Given the description of an element on the screen output the (x, y) to click on. 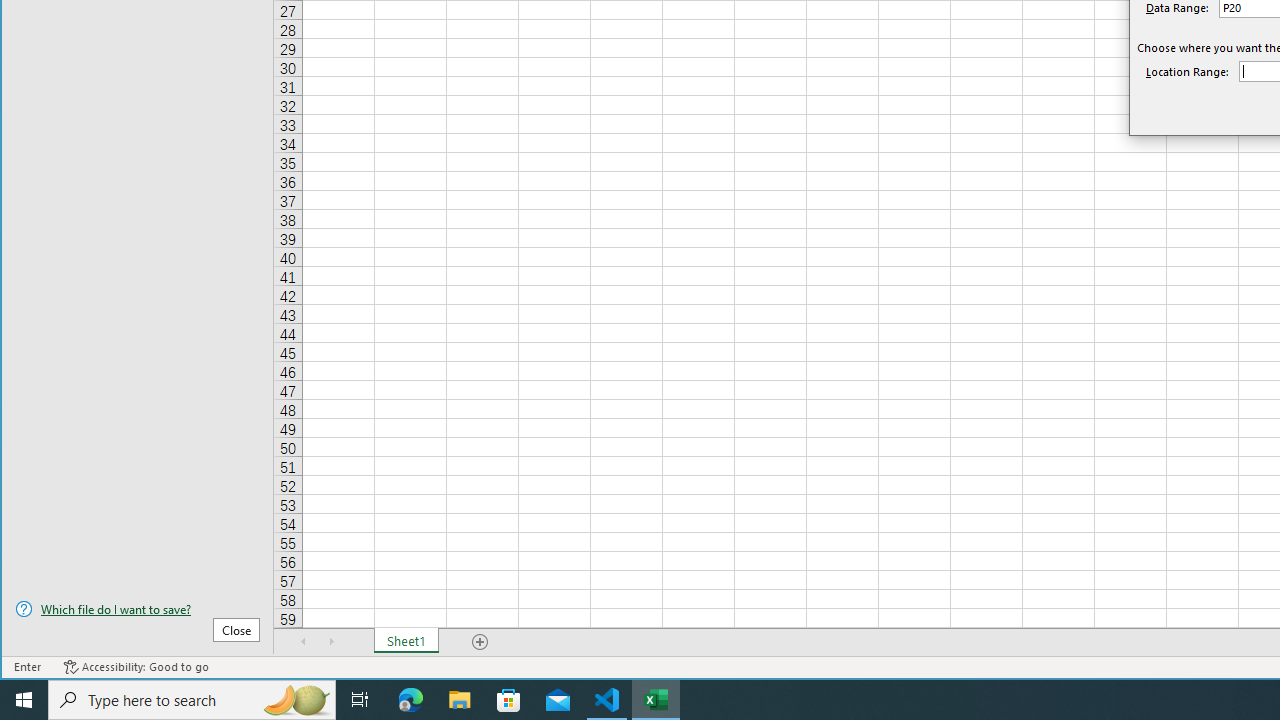
Visual Studio Code - 1 running window (607, 699)
Type here to search (191, 699)
File Explorer (460, 699)
Start (24, 699)
Microsoft Store (509, 699)
Task View (359, 699)
Microsoft Edge (411, 699)
Search highlights icon opens search home window (295, 699)
Excel - 1 running window (656, 699)
